Given the description of an element on the screen output the (x, y) to click on. 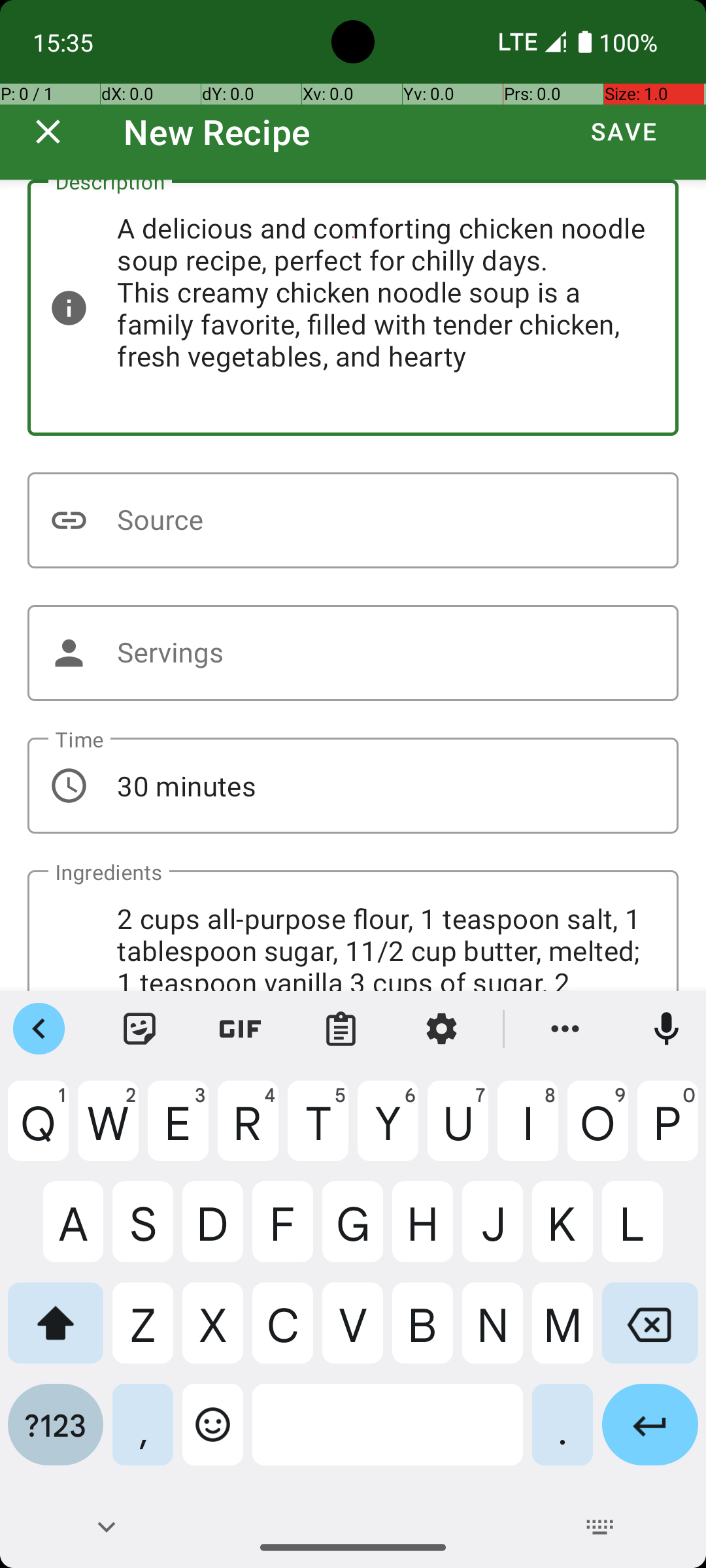
A delicious and comforting chicken noodle soup recipe, perfect for chilly days.
This creamy chicken noodle soup is a family favorite, filled with tender chicken, fresh vegetables, and hearty
 Element type: android.widget.EditText (352, 307)
30 minutes Element type: android.widget.EditText (352, 785)
2 cups all-purpose flour, 1 teaspoon salt, 1 tablespoon sugar, 11/2 cup butter, melted; 1 teaspoon vanilla 3 cups of sugar, 2 tablespoons of baking powder, 1 teaspoon of cinnamon, 1
extract; 3/4 cup sugar
/2
 Element type: android.widget.EditText (352, 930)
